Given the description of an element on the screen output the (x, y) to click on. 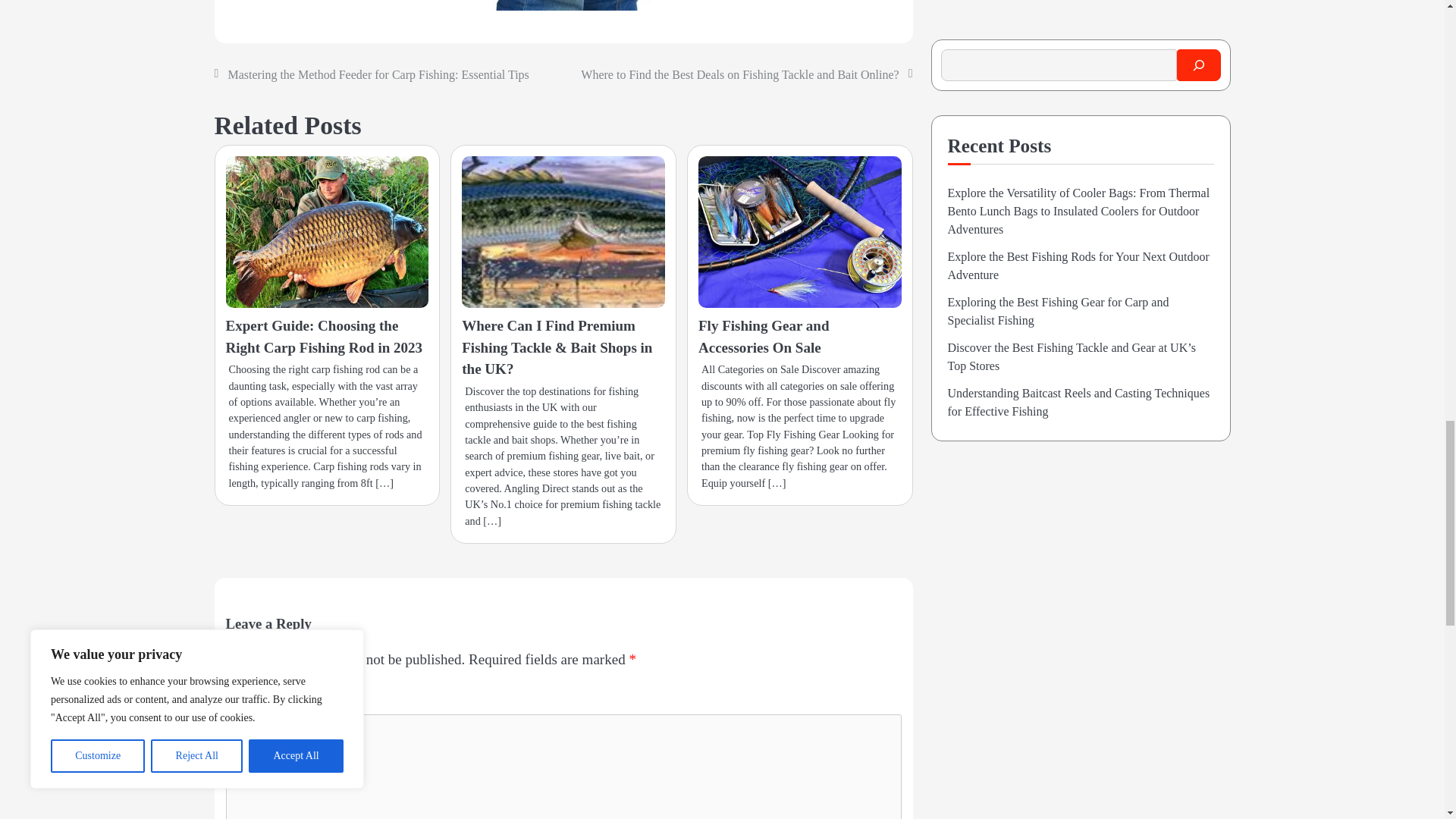
Mastering the Method Feeder for Carp Fishing: Essential Tips (377, 74)
What Are the Best Fishing Rods Available for Anglers? (563, 5)
Expert Guide: Choosing the Right Carp Fishing Rod in 2023 (324, 336)
